Given the description of an element on the screen output the (x, y) to click on. 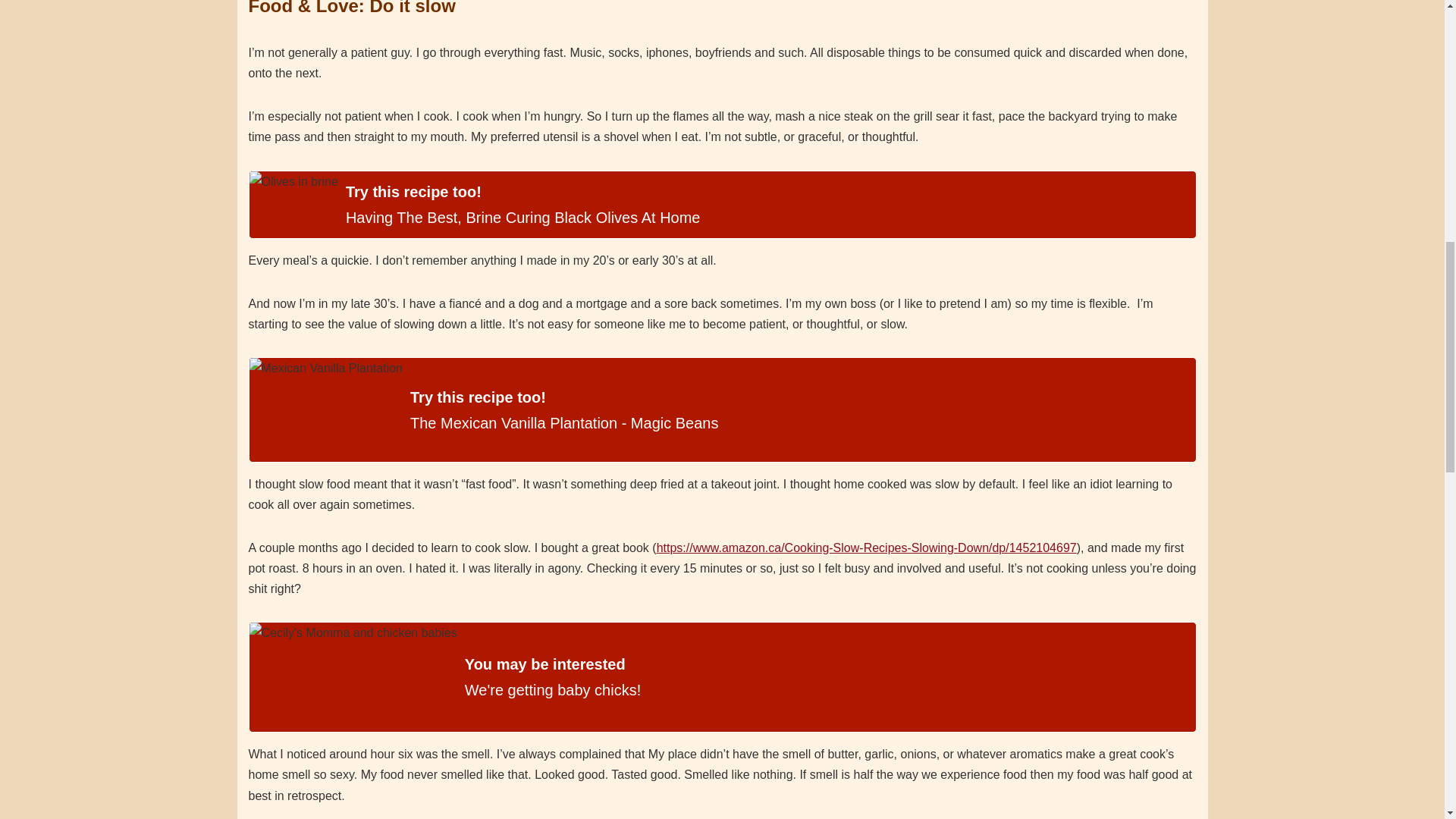
Cecily's Momma and chicken babies - eatinscanada.com (352, 677)
Olives in brine - eatinscanada.com (292, 204)
Mexican Vanilla Plantation - eatinscanada.com (324, 409)
